Given the description of an element on the screen output the (x, y) to click on. 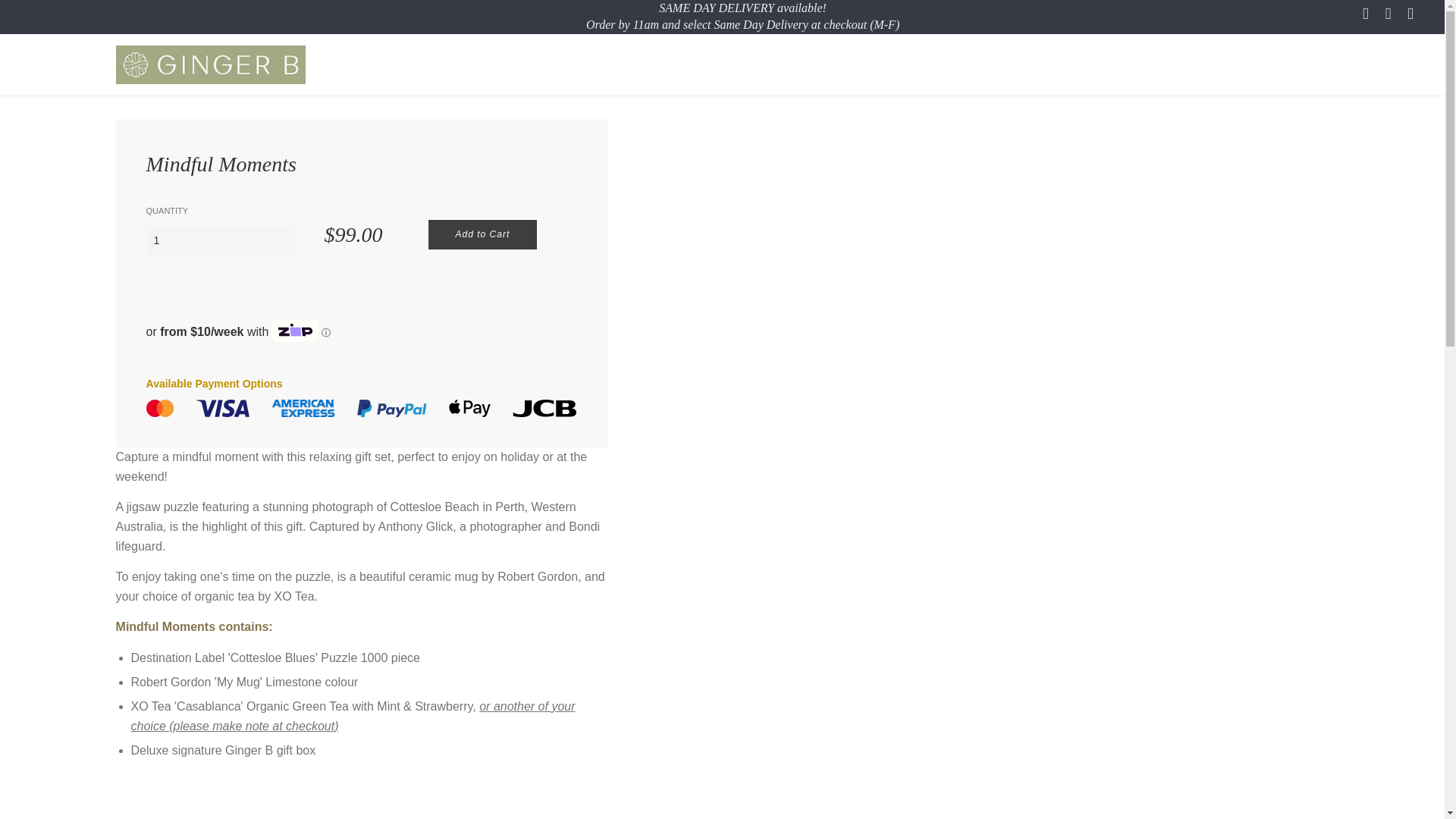
Xo Tea selection (353, 716)
1 (220, 240)
